Given the description of an element on the screen output the (x, y) to click on. 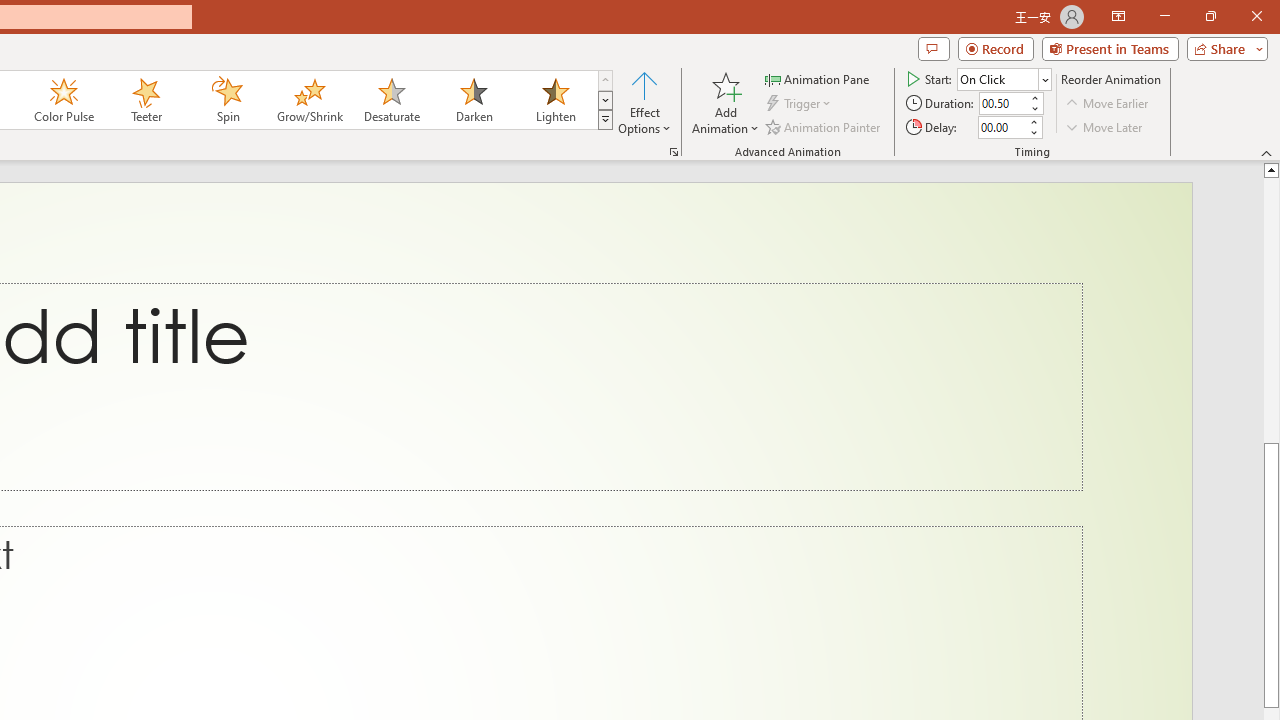
Spin (227, 100)
Desaturate (391, 100)
Grow/Shrink (309, 100)
Animation Painter (824, 126)
Effect Options (644, 102)
Lighten (555, 100)
Animation Delay (1002, 127)
